Given the description of an element on the screen output the (x, y) to click on. 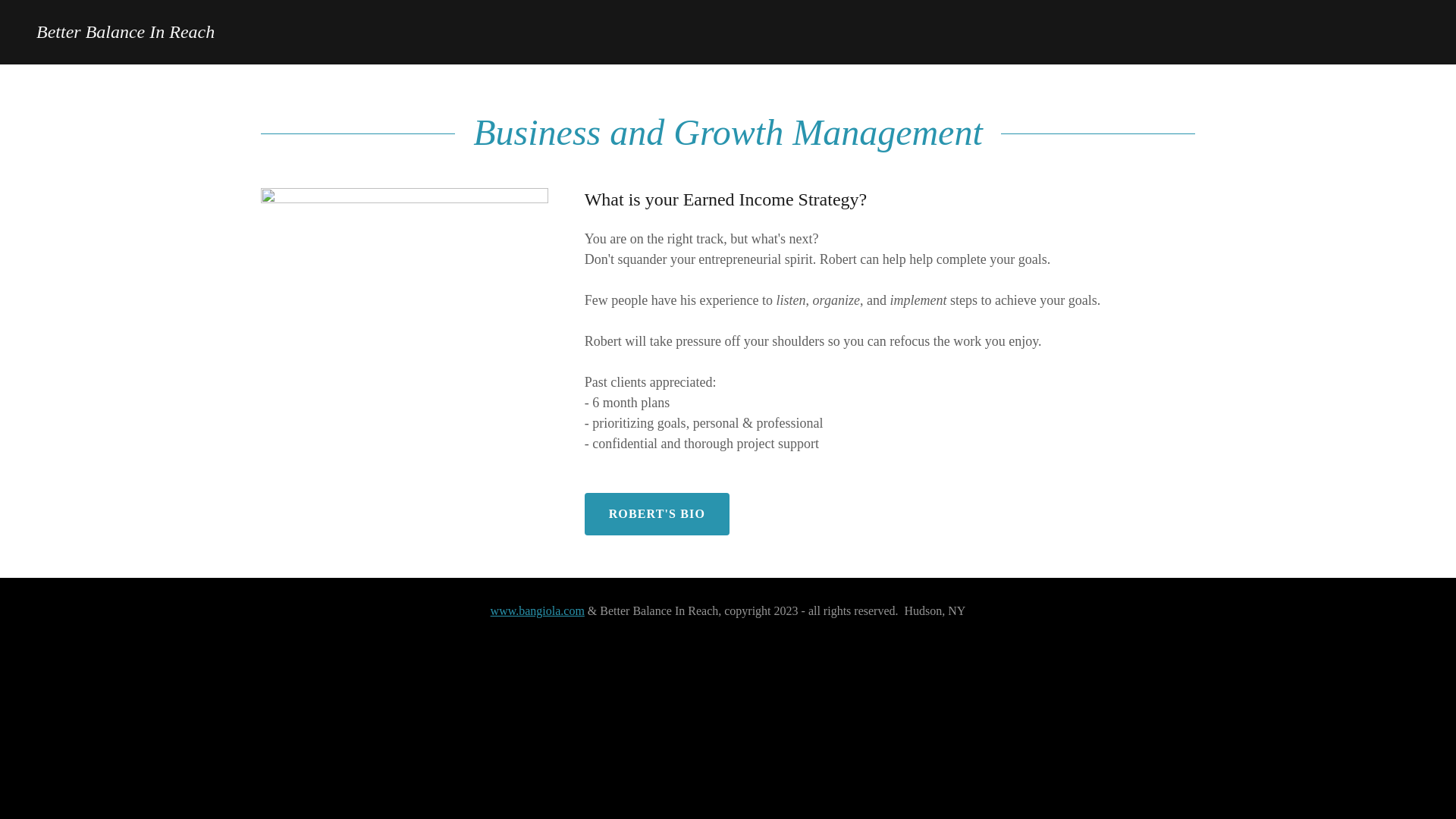
ROBERT'S BIO (657, 514)
Better Balance In Reach (125, 32)
www.bangiola.com (537, 610)
Better Balance In Reach (125, 32)
